Given the description of an element on the screen output the (x, y) to click on. 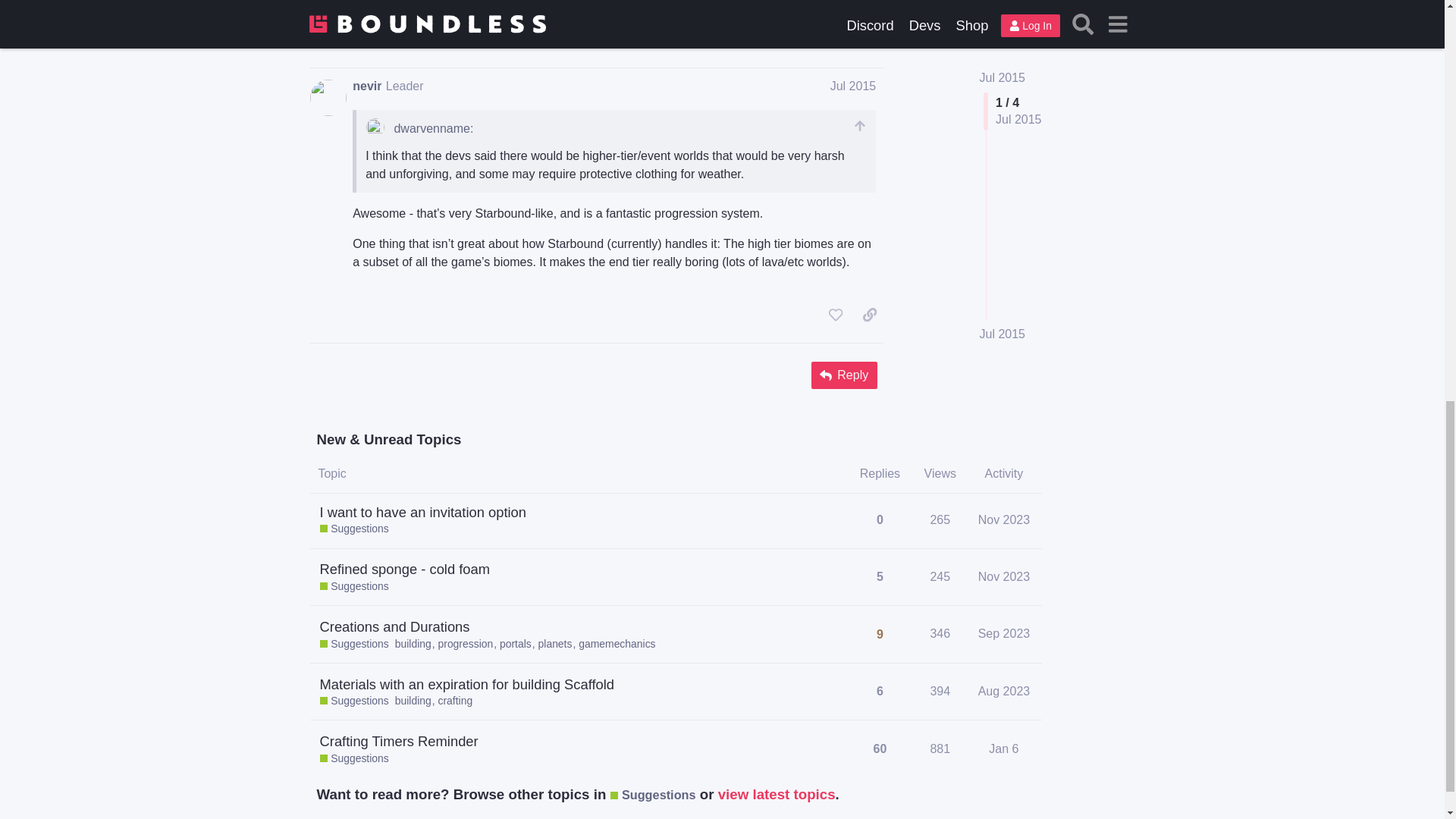
nevir (366, 85)
